Given the description of an element on the screen output the (x, y) to click on. 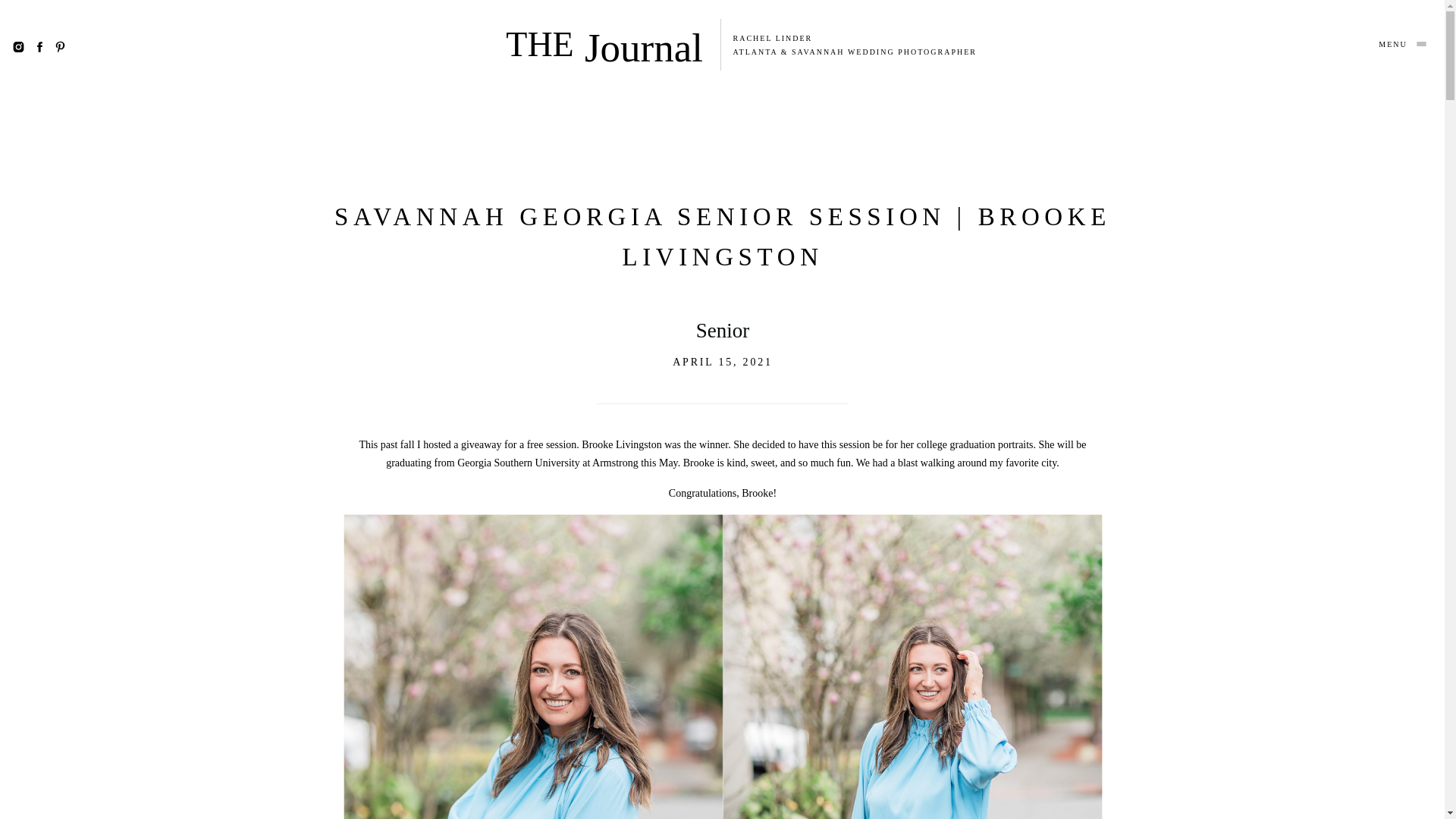
Senior (722, 330)
